Given the description of an element on the screen output the (x, y) to click on. 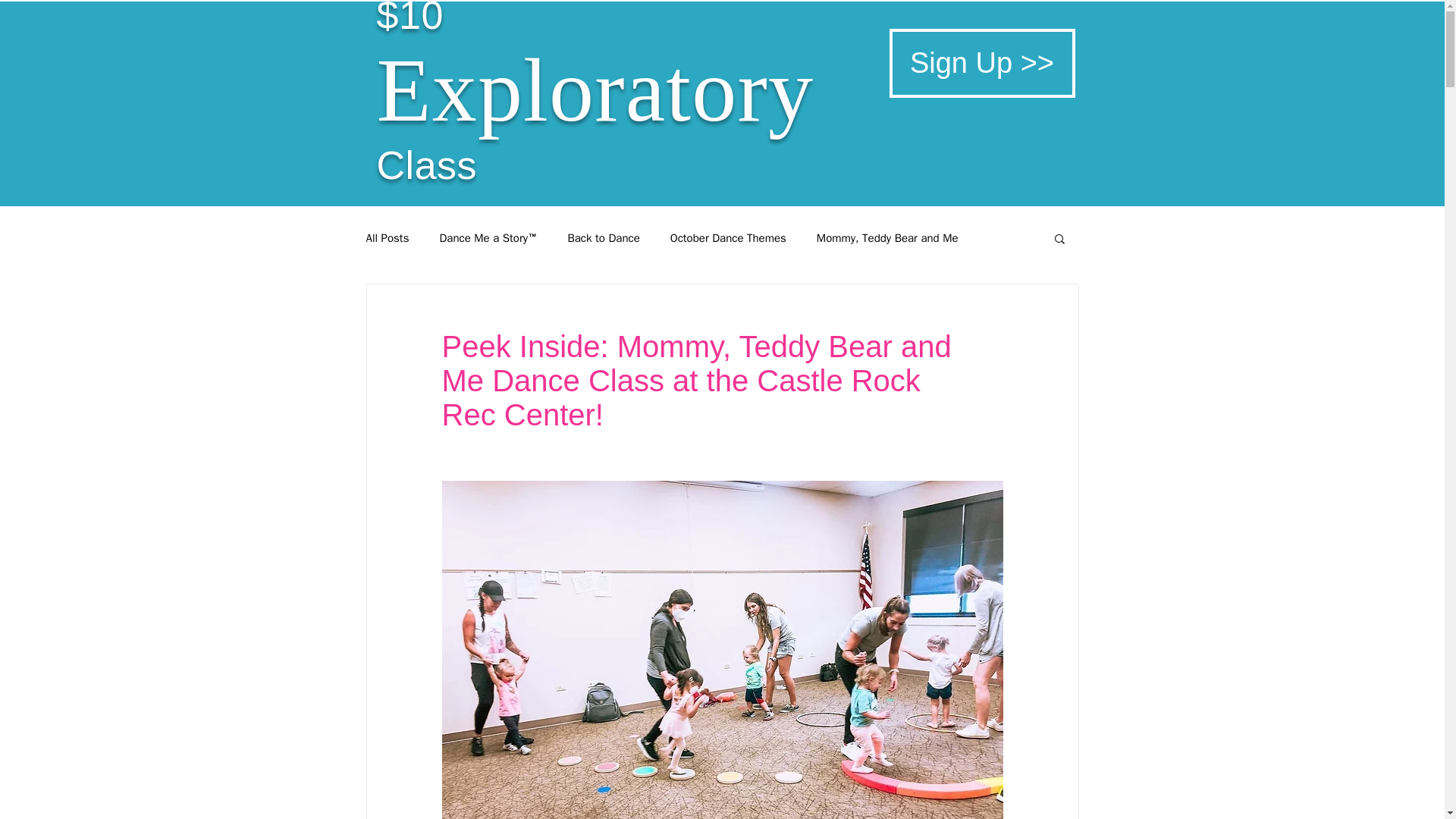
October Dance Themes (727, 237)
Mommy, Teddy Bear and Me (887, 237)
Back to Dance (603, 237)
All Posts (387, 237)
